Given the description of an element on the screen output the (x, y) to click on. 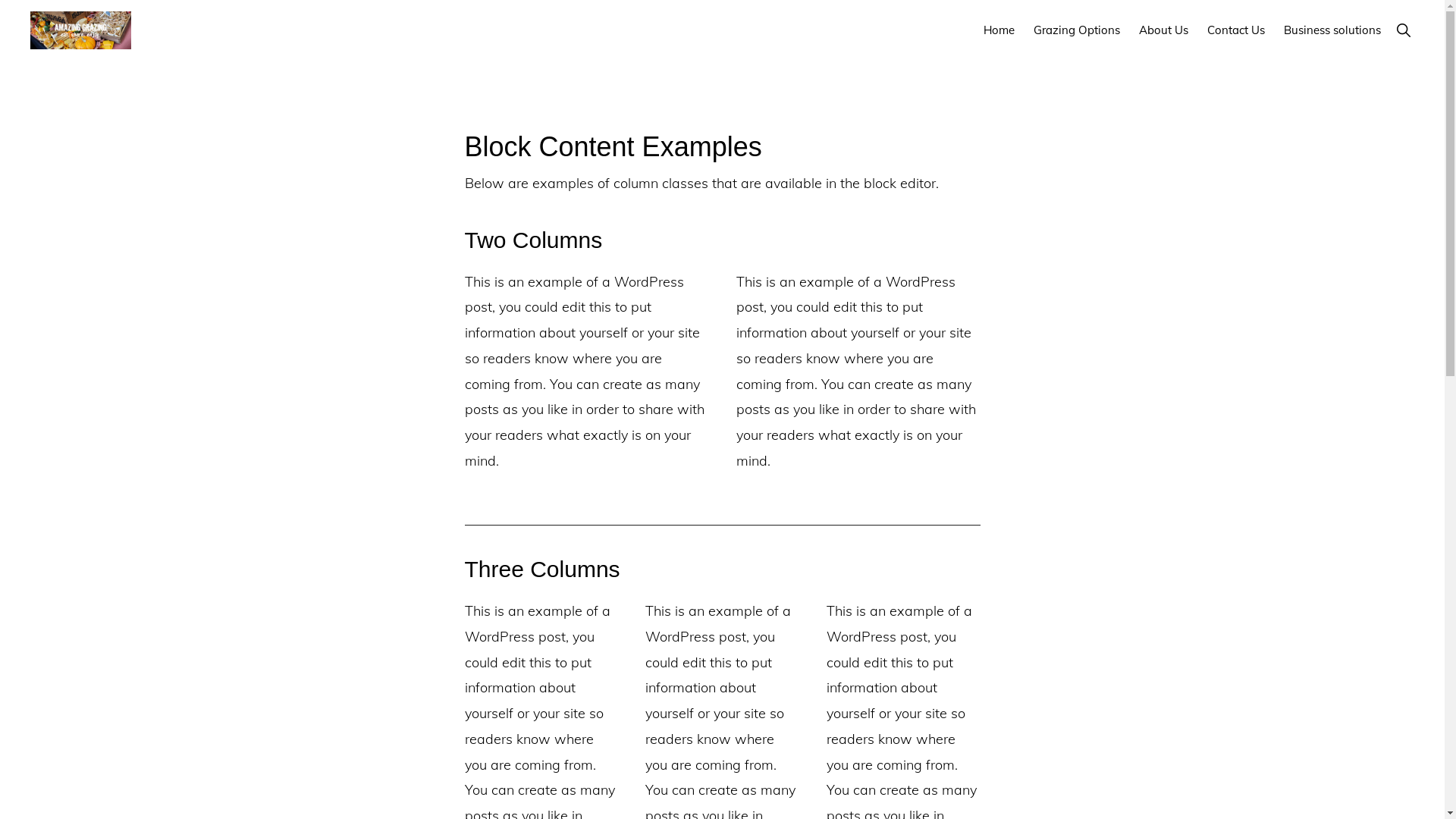
Log in Element type: text (766, 748)
Show Search Element type: text (1403, 29)
INSTAGRAM Element type: text (771, 775)
Contact Us Element type: text (1235, 29)
Home Element type: text (998, 29)
TWITTER Element type: text (720, 775)
Business solutions Element type: text (1332, 29)
FACEBOOK Element type: text (671, 775)
Grazing Options Element type: text (1076, 29)
About Us Element type: text (1163, 29)
Skip to primary navigation Element type: text (0, 0)
